Given the description of an element on the screen output the (x, y) to click on. 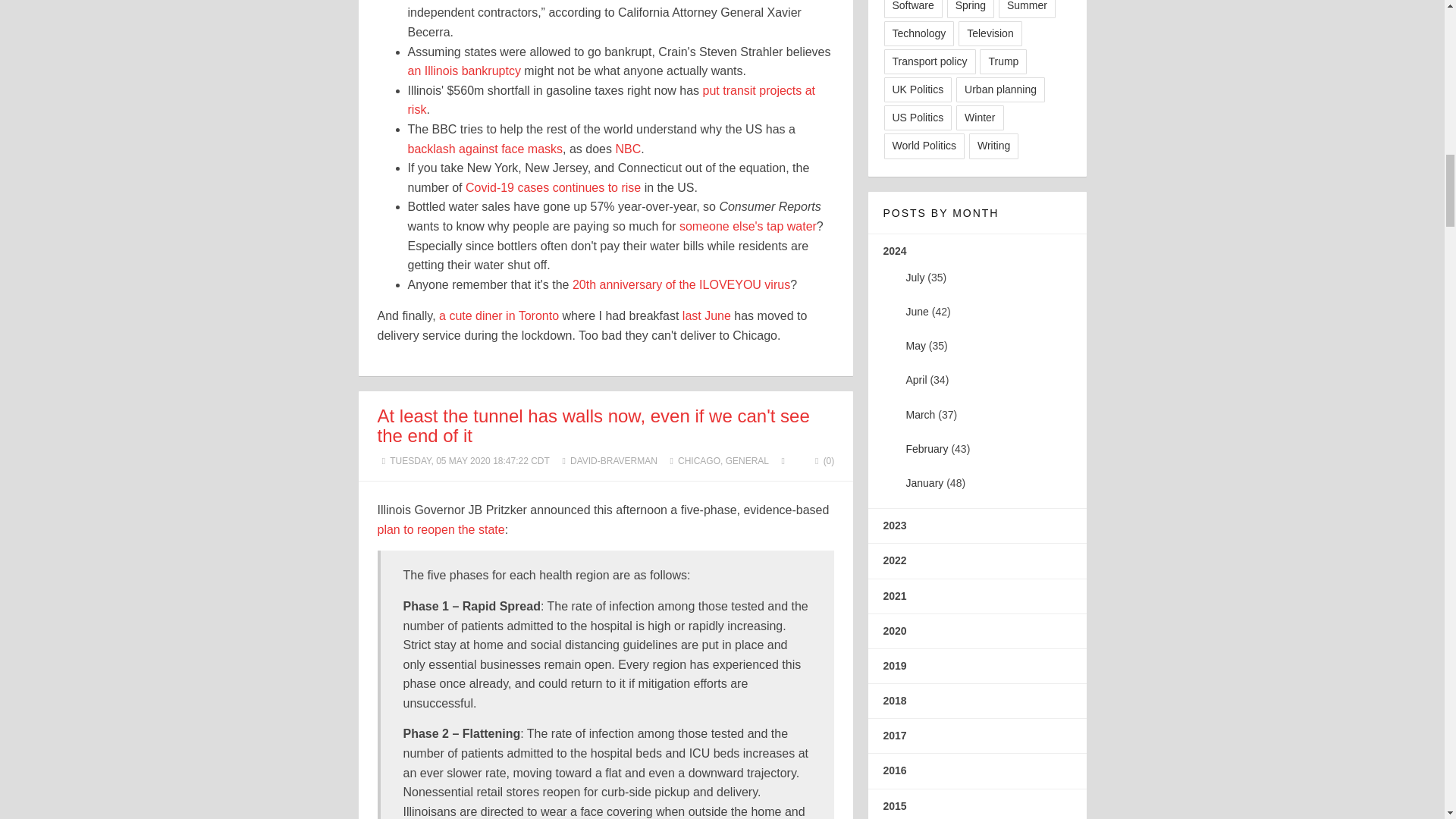
Open a map of the location where this post was written (782, 460)
